Given the description of an element on the screen output the (x, y) to click on. 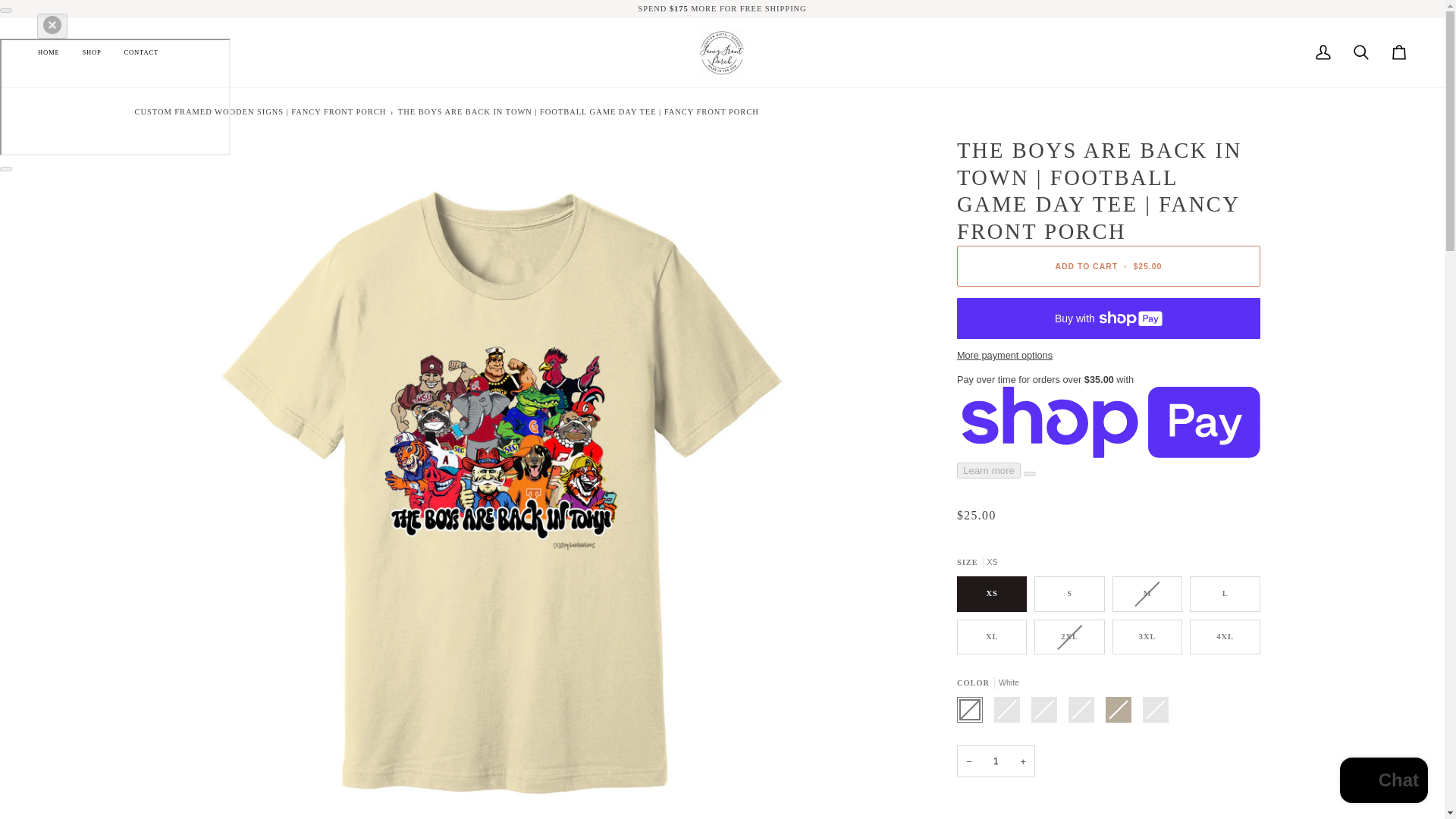
1 (995, 761)
